Given the description of an element on the screen output the (x, y) to click on. 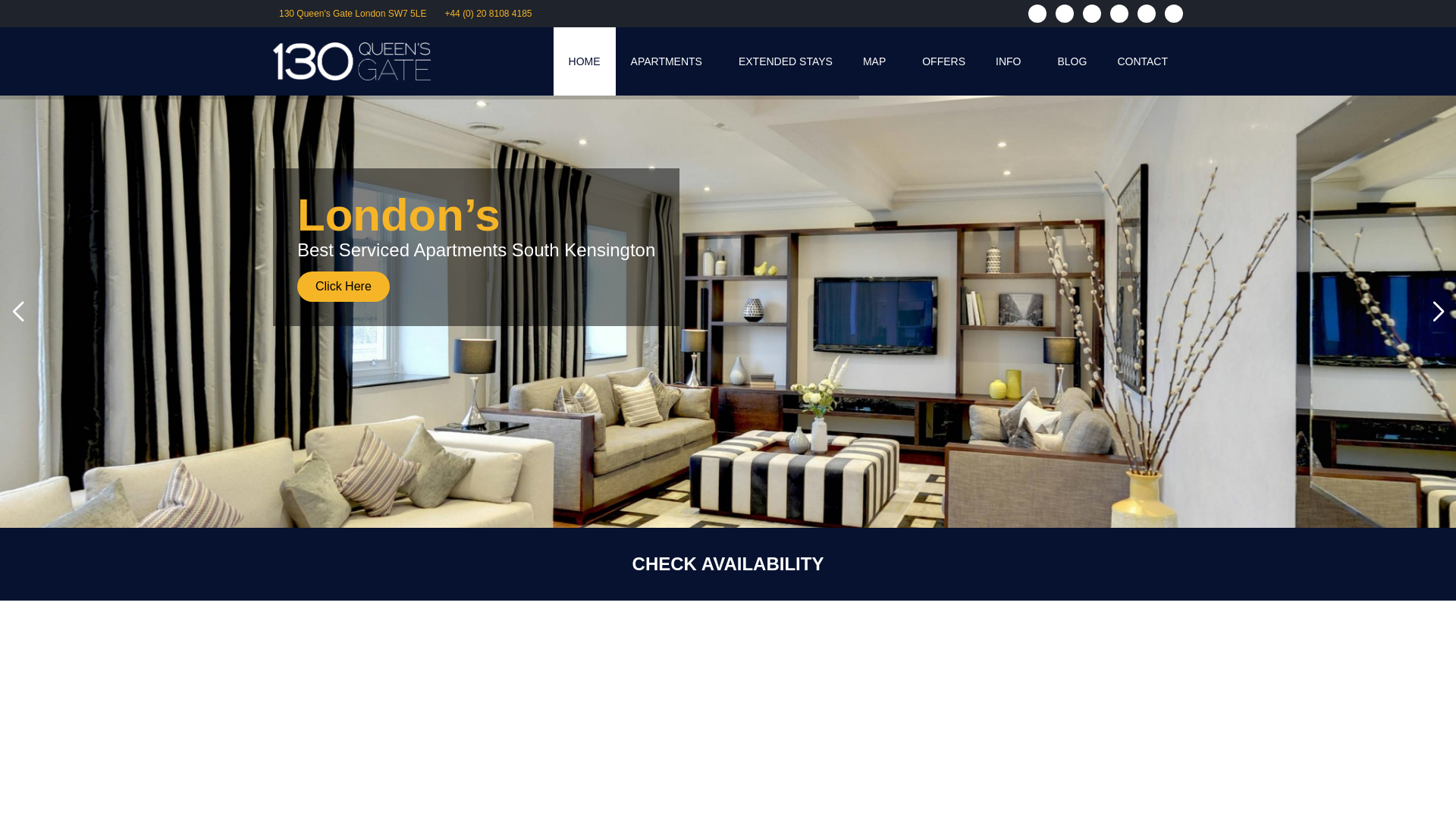
OFFERS (943, 61)
HOME (584, 61)
INFO (1010, 61)
EXTENDED STAYS (785, 61)
APARTMENTS (669, 61)
